Given the description of an element on the screen output the (x, y) to click on. 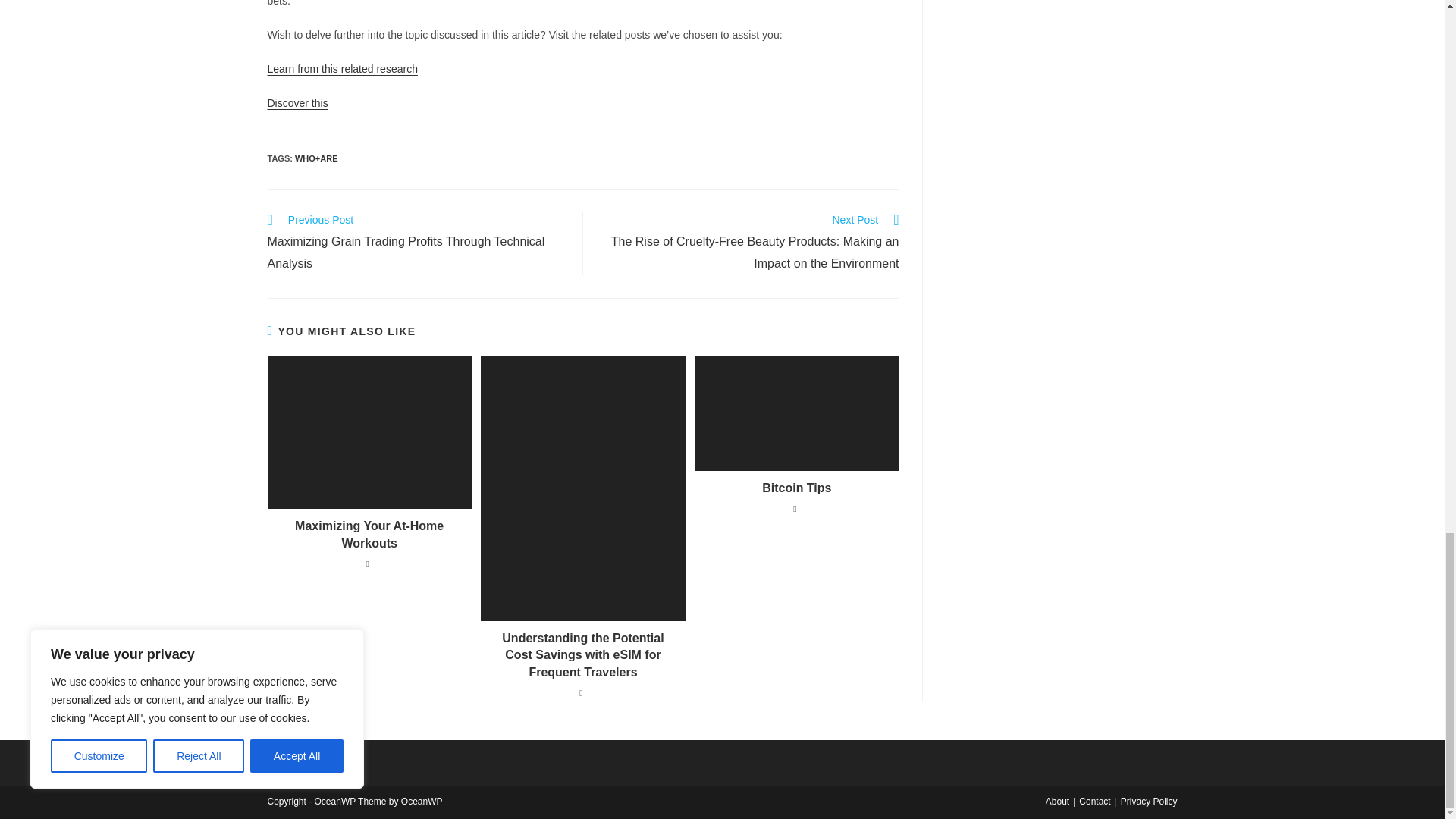
Maximizing Your At-Home Workouts (368, 534)
Discover this (296, 102)
Learn from this related research (341, 69)
